Given the description of an element on the screen output the (x, y) to click on. 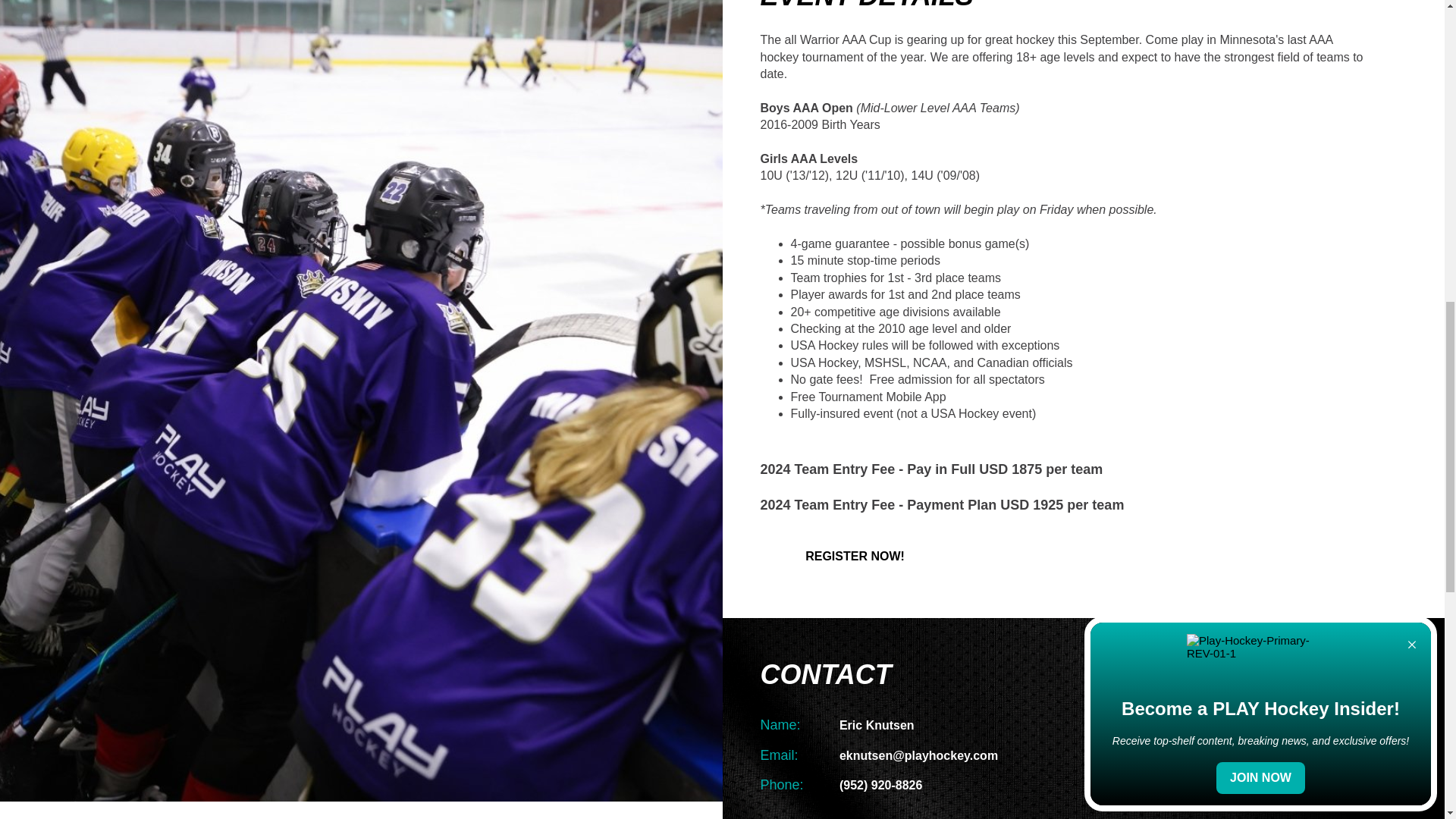
INQUIRE TODAY! (854, 817)
REGISTER NOW! (854, 556)
